Given the description of an element on the screen output the (x, y) to click on. 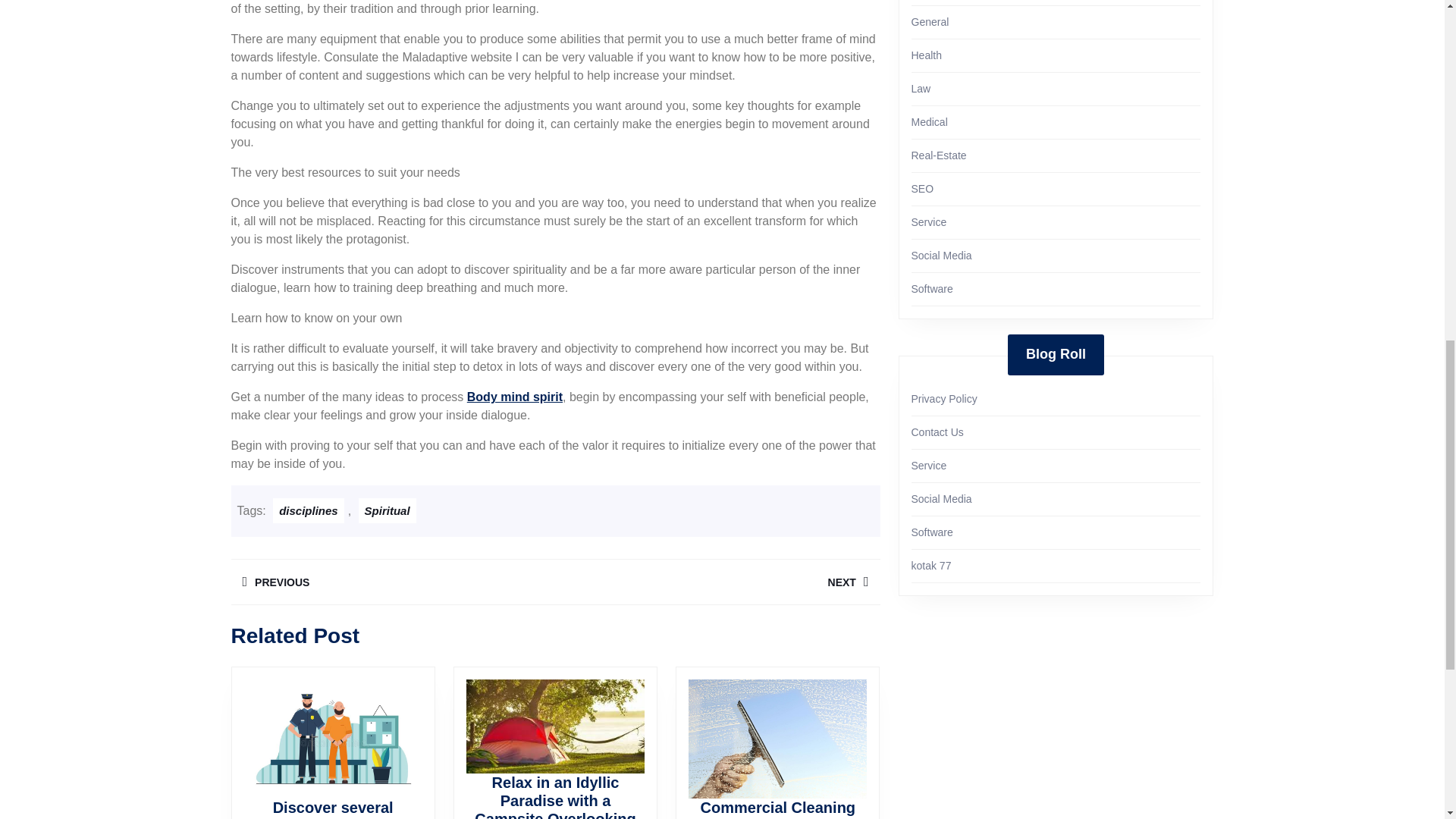
Law (921, 88)
General (930, 21)
Health (926, 55)
Spiritual (387, 510)
Body mind spirit (514, 396)
disciplines (392, 581)
